Given the description of an element on the screen output the (x, y) to click on. 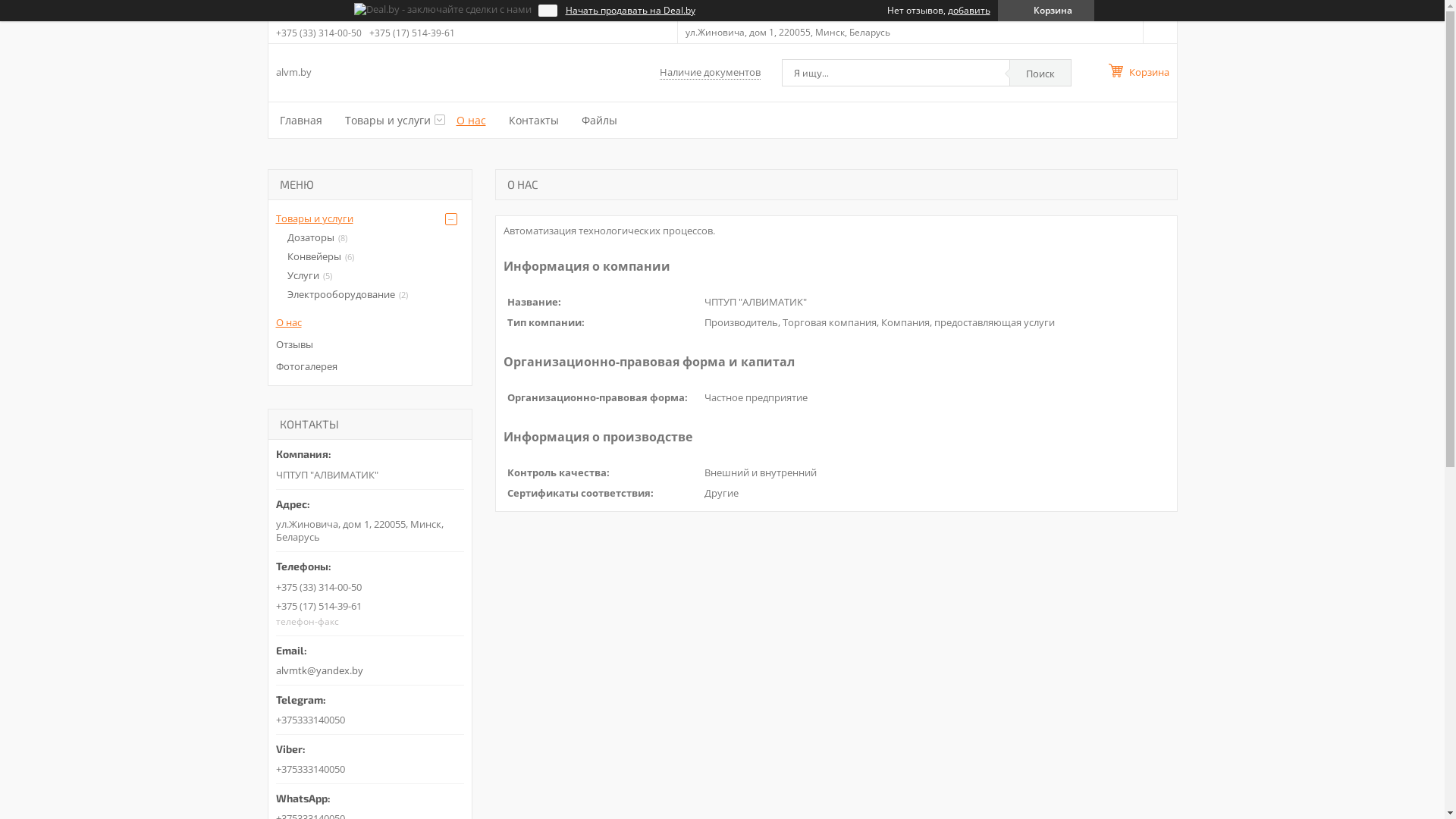
alvmtk@yandex.by Element type: text (370, 656)
